Given the description of an element on the screen output the (x, y) to click on. 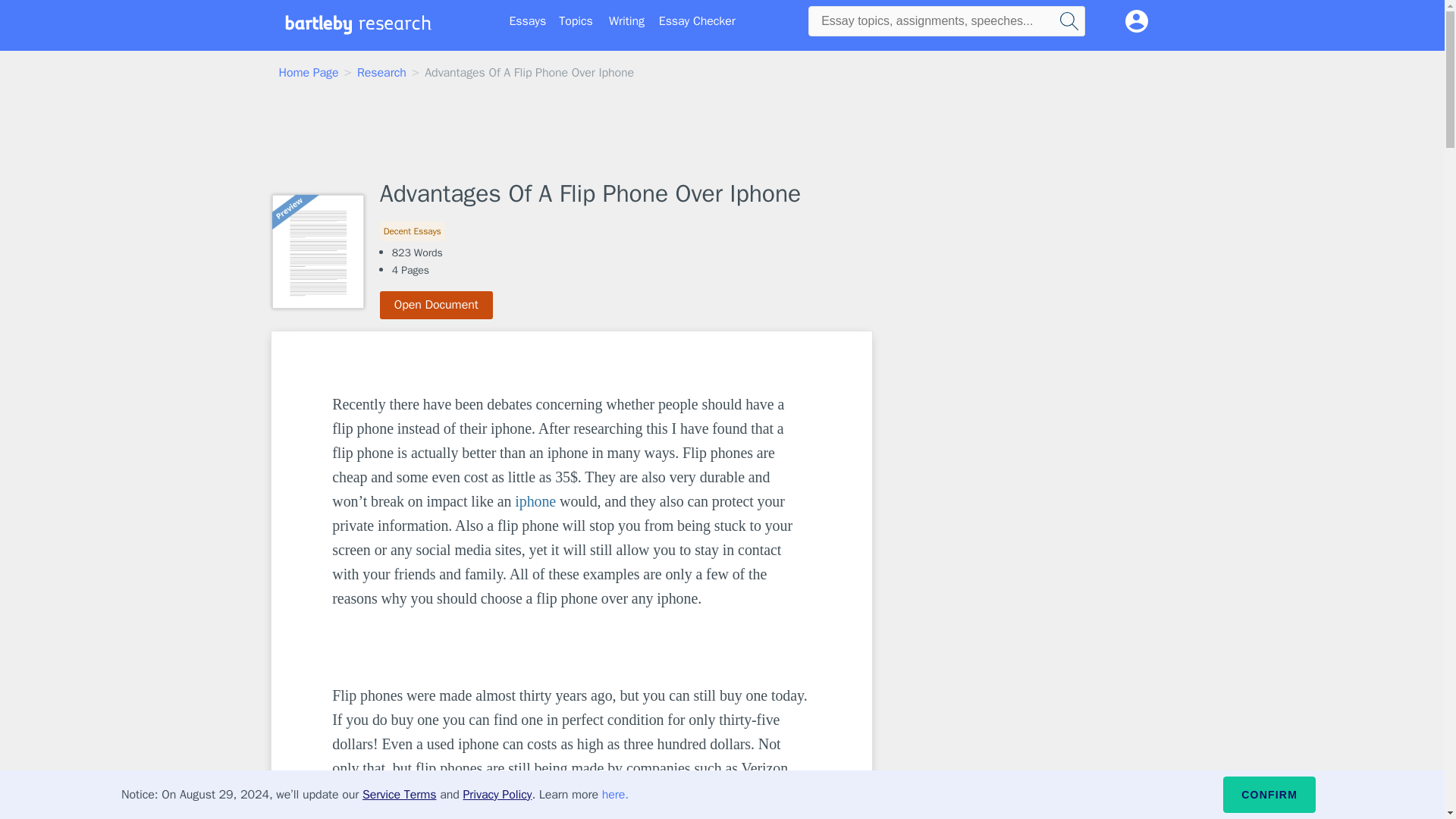
Essay Checker (697, 20)
Essays (528, 20)
Research (381, 72)
Writing (626, 20)
Home Page (309, 72)
Topics (575, 20)
iphone (535, 501)
Open Document (436, 305)
